Given the description of an element on the screen output the (x, y) to click on. 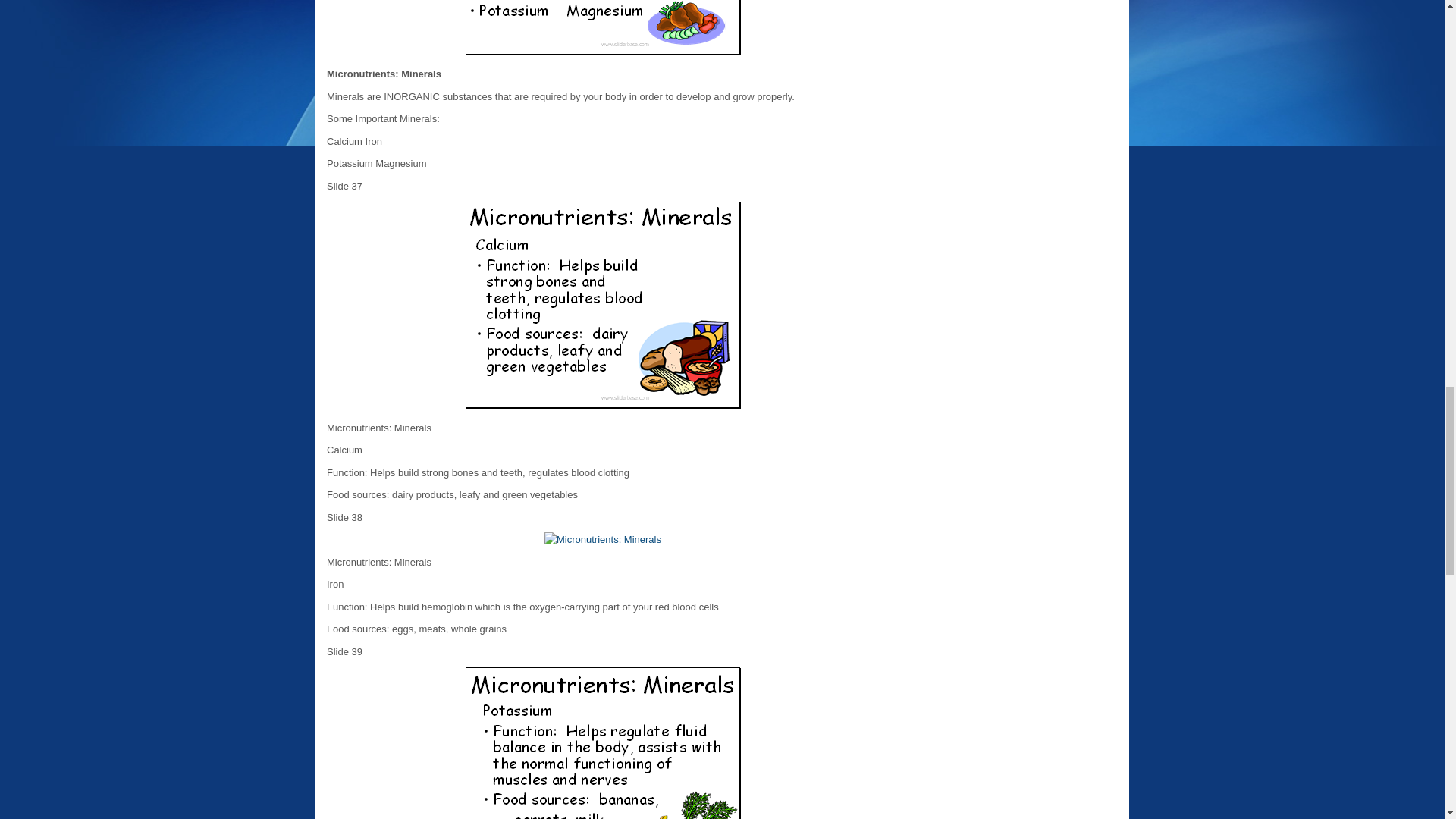
Micronutrients: Minerals (602, 27)
Micronutrients: Minerals (602, 304)
Micronutrients: Minerals (602, 539)
Micronutrients: Minerals (602, 742)
